Given the description of an element on the screen output the (x, y) to click on. 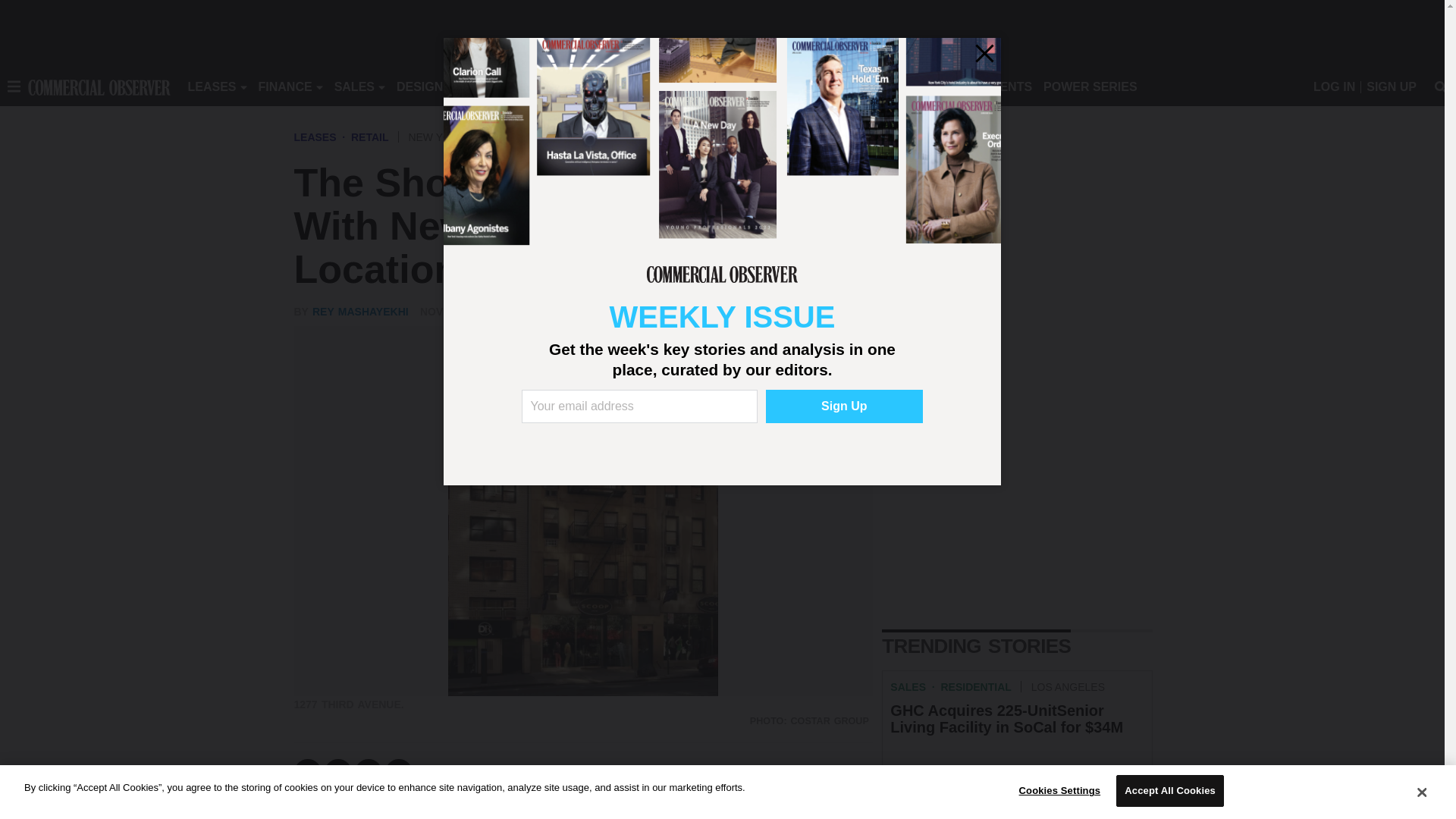
Send email (398, 772)
Share on Facebook (307, 772)
LEASES (211, 86)
TECHNOLOGY (619, 86)
Tweet (338, 772)
MORE (691, 86)
FINANCE (286, 86)
Share on LinkedIn (368, 772)
Posts by Rey Mashayekhi (361, 311)
Commercial Observer Home (98, 86)
SALES (354, 86)
